Given the description of an element on the screen output the (x, y) to click on. 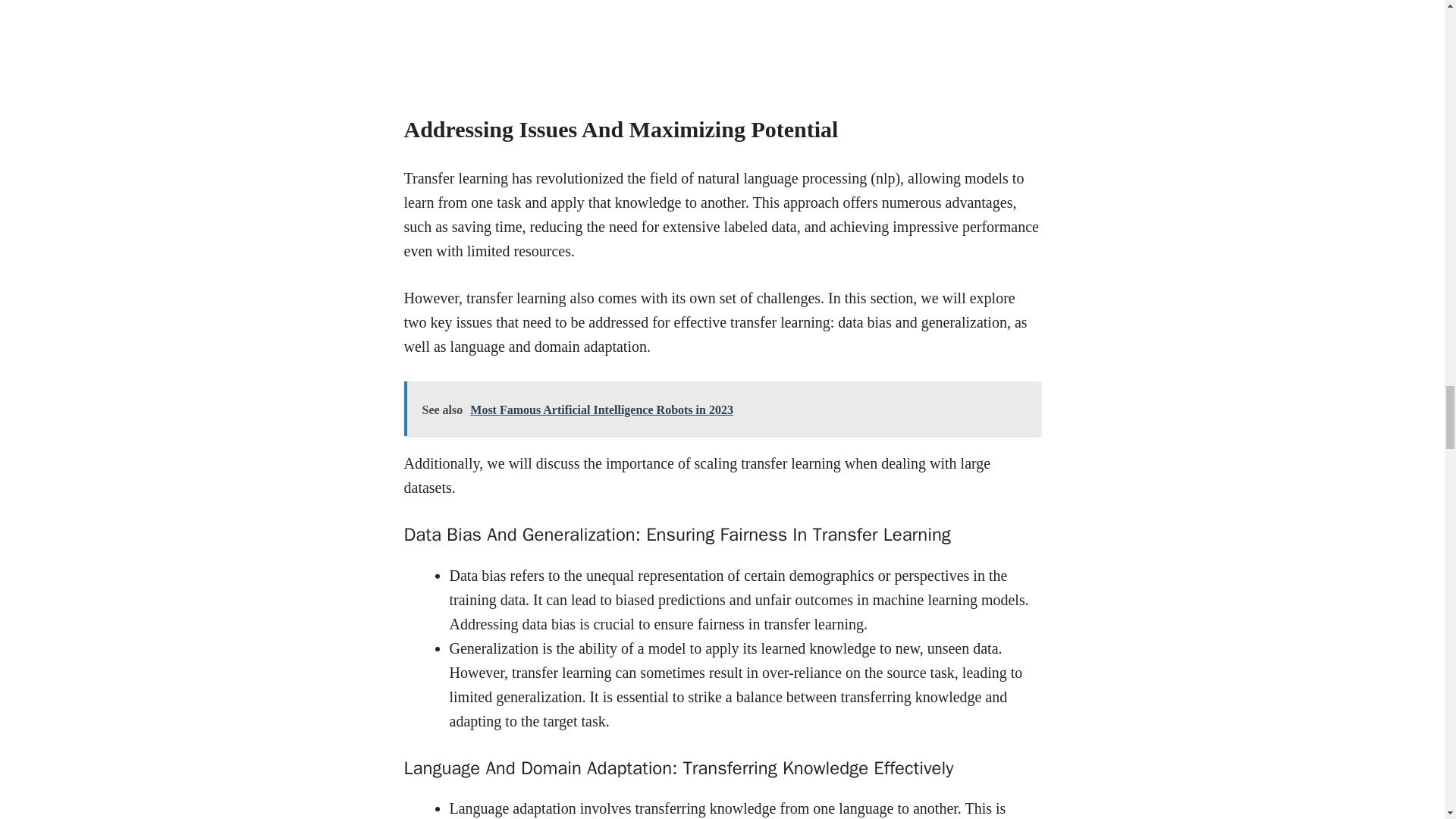
See also  Most Famous Artificial Intelligence Robots in 2023 (722, 408)
